Given the description of an element on the screen output the (x, y) to click on. 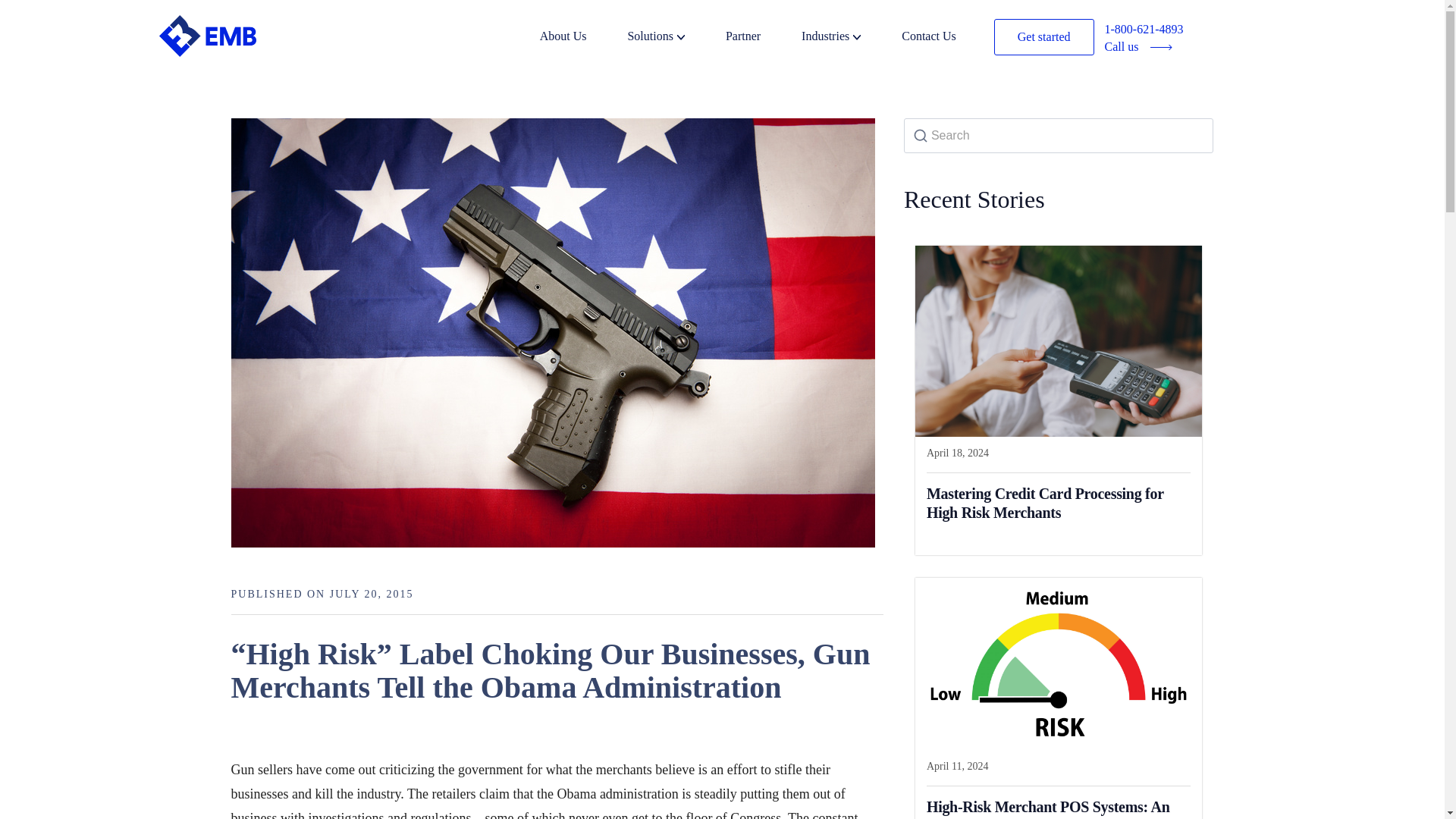
Industries (850, 37)
About Us (582, 37)
Solutions (674, 37)
Partner (761, 37)
